Given the description of an element on the screen output the (x, y) to click on. 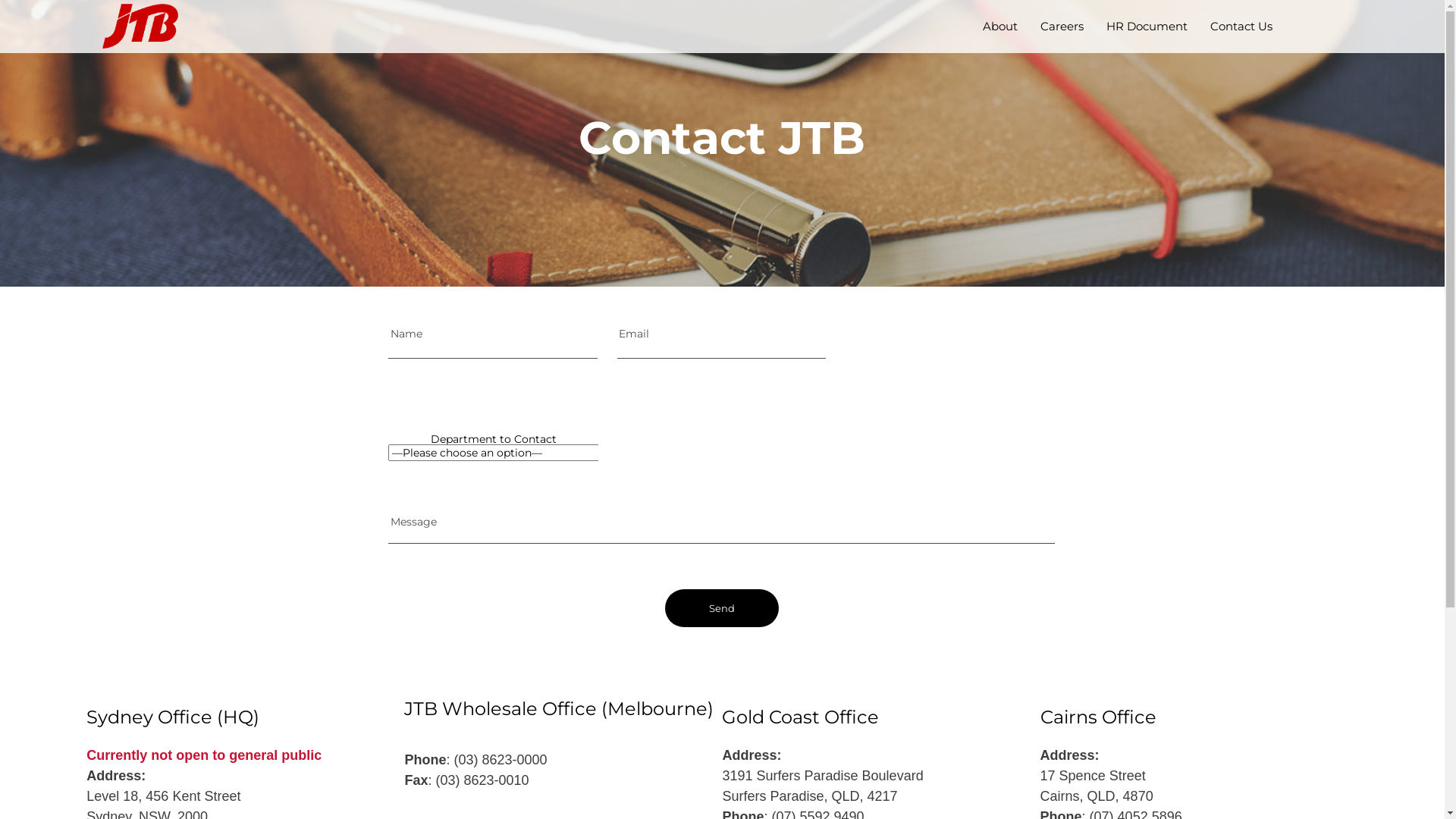
Careers Element type: text (1061, 26)
Contact Us Element type: text (1241, 26)
send Element type: text (721, 607)
About Element type: text (1000, 26)
HR Document Element type: text (1146, 26)
